Given the description of an element on the screen output the (x, y) to click on. 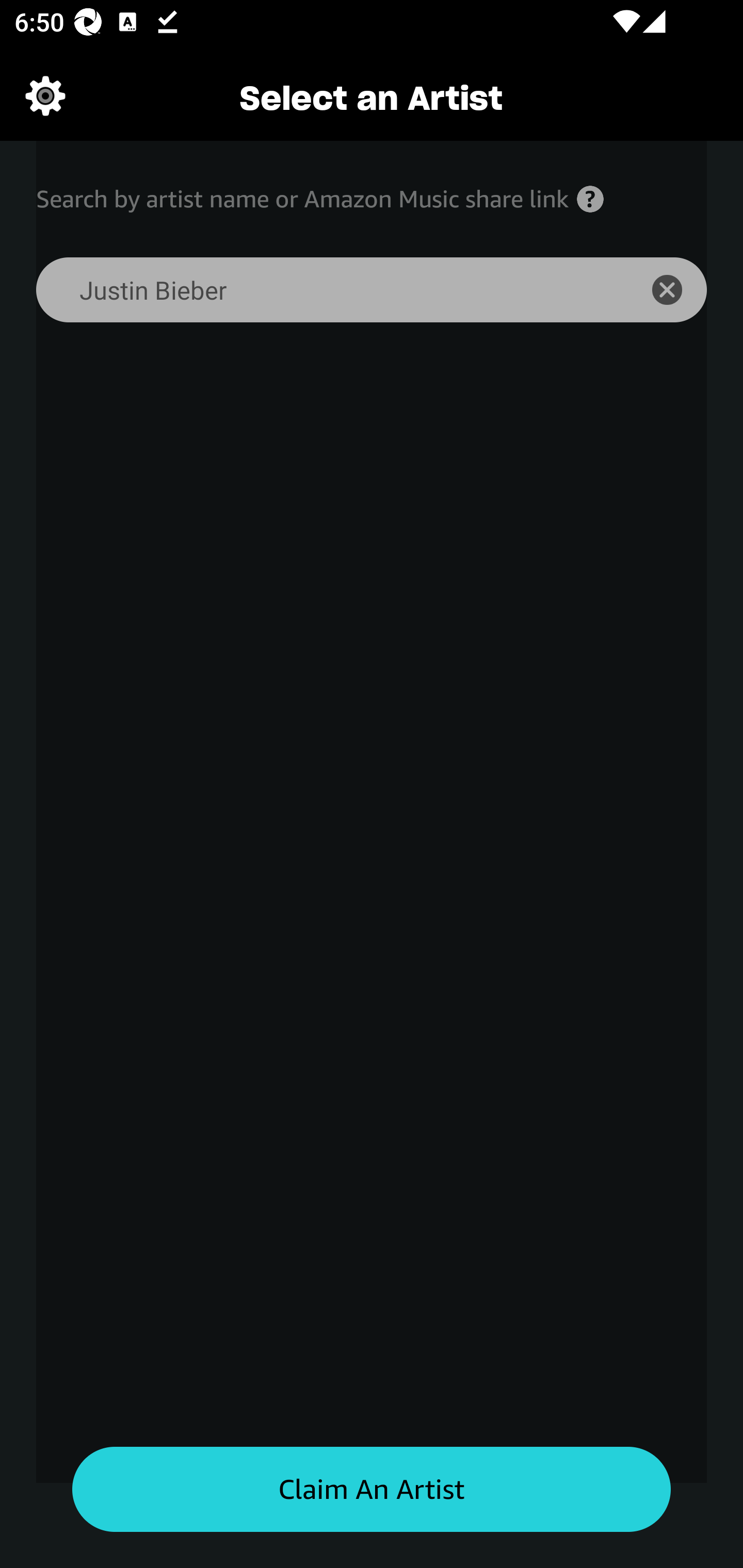
Help  icon (589, 199)
Justin Bieber Search for an artist search bar (324, 290)
 icon (677, 290)
Claim an artist button Claim An Artist (371, 1489)
